Given the description of an element on the screen output the (x, y) to click on. 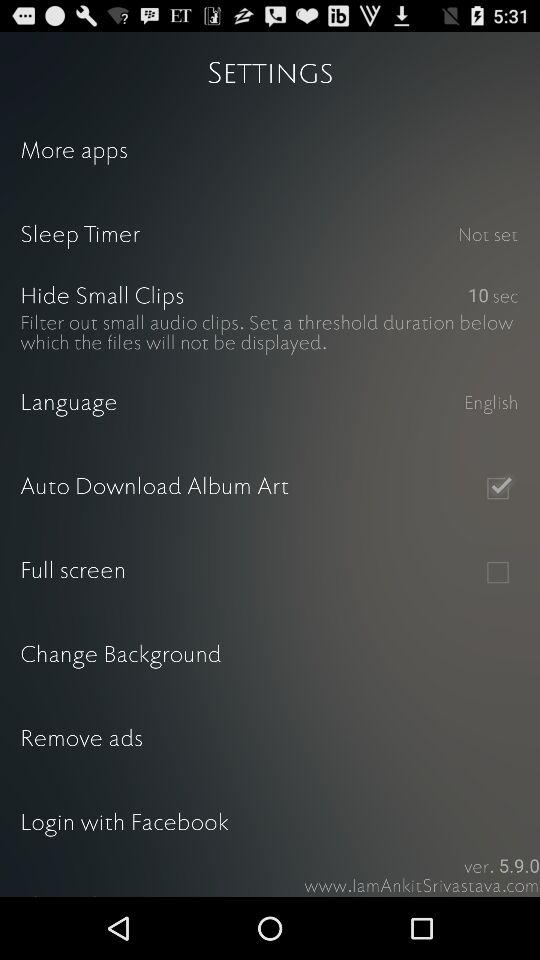
accepted (498, 488)
